Given the description of an element on the screen output the (x, y) to click on. 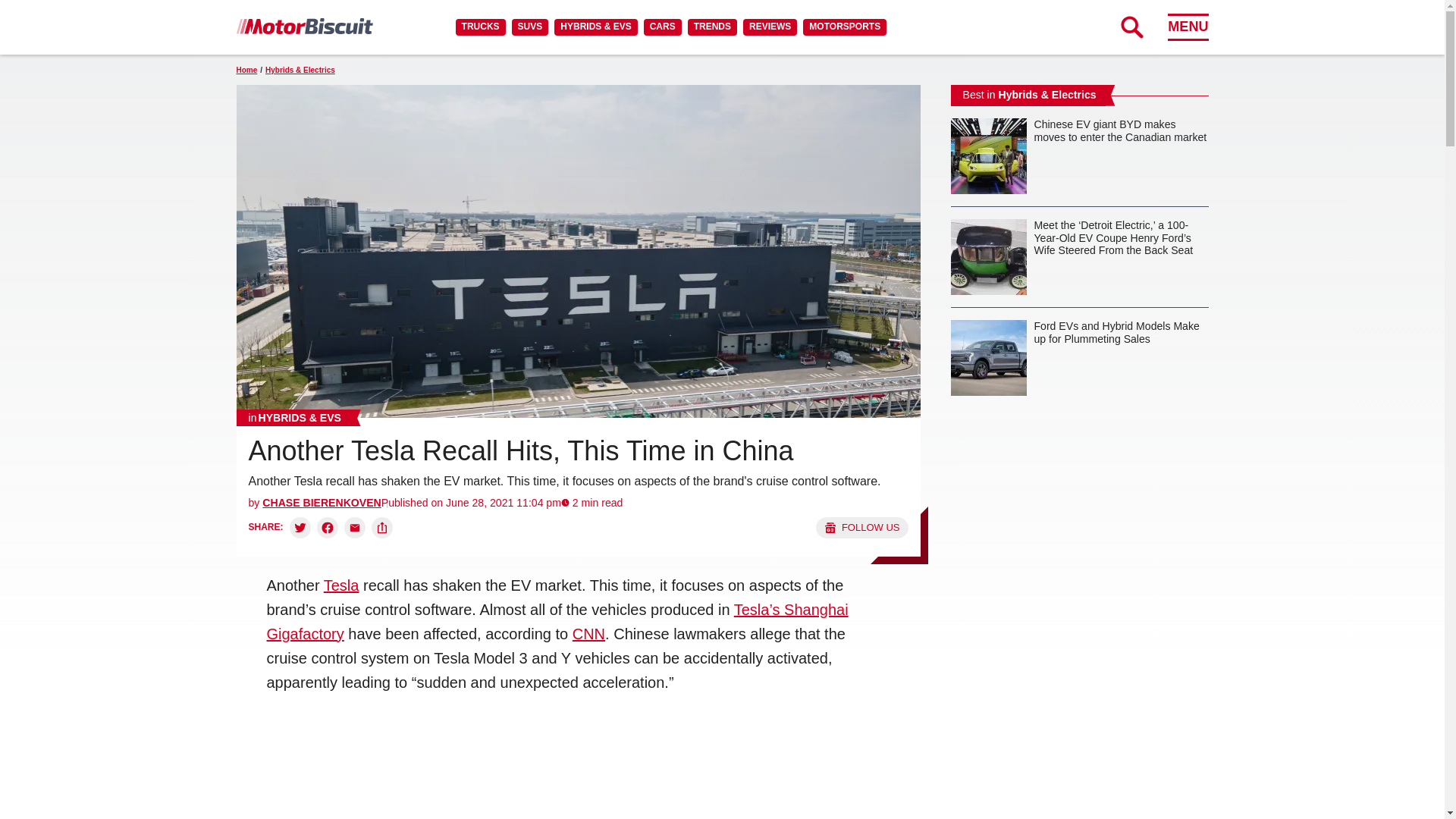
Expand Search (1131, 26)
MENU (1187, 26)
Follow us on Google News (861, 527)
MotorBiscuit (303, 26)
MOTORSPORTS (844, 26)
Copy link and share:  (382, 527)
REVIEWS (769, 26)
SUVS (530, 26)
TRUCKS (480, 26)
TRENDS (711, 26)
CARS (662, 26)
